Given the description of an element on the screen output the (x, y) to click on. 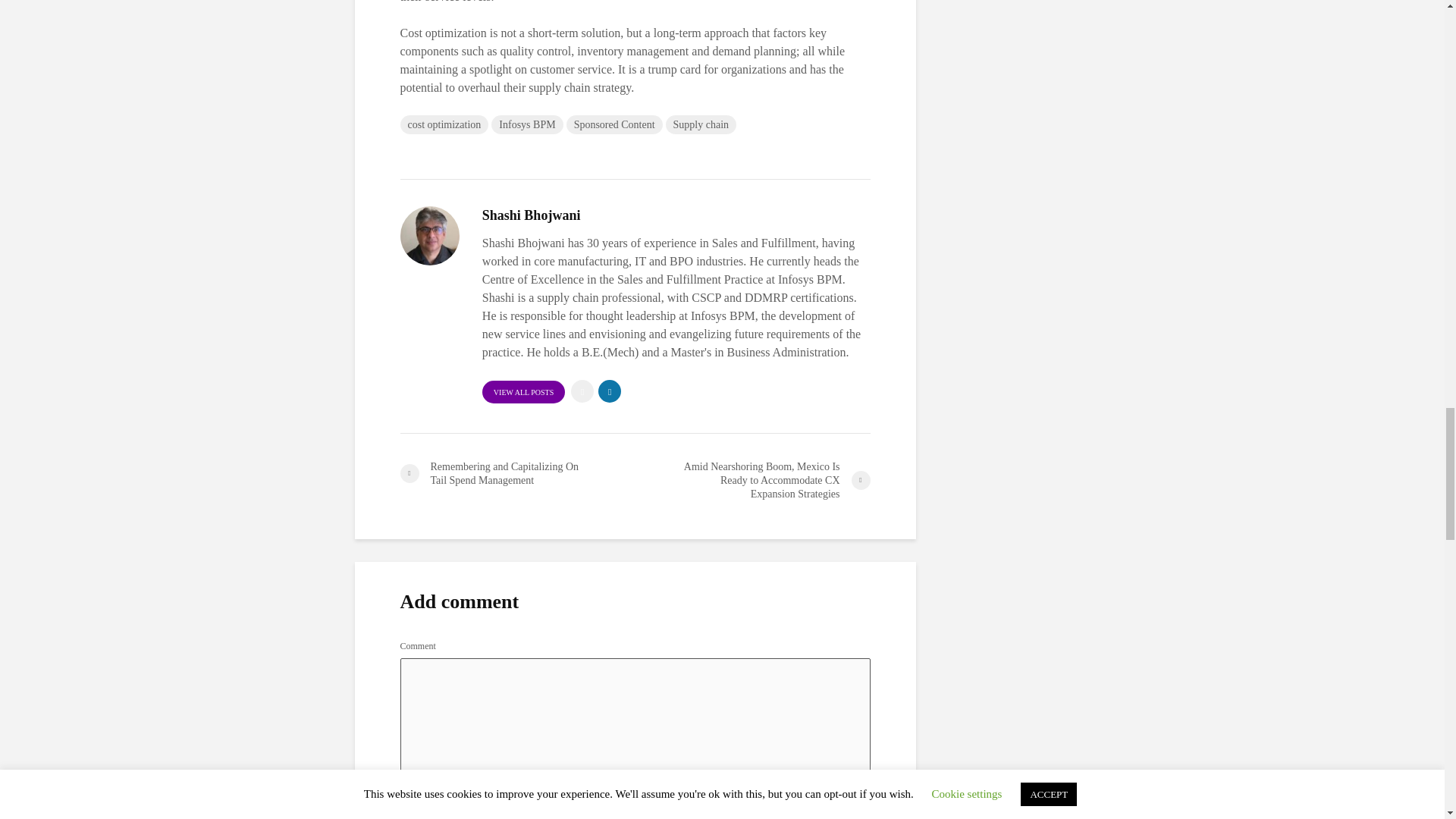
Sponsored Content (614, 124)
Infosys BPM (527, 124)
cost optimization (444, 124)
VIEW ALL POSTS (522, 391)
Supply chain (700, 124)
